Given the description of an element on the screen output the (x, y) to click on. 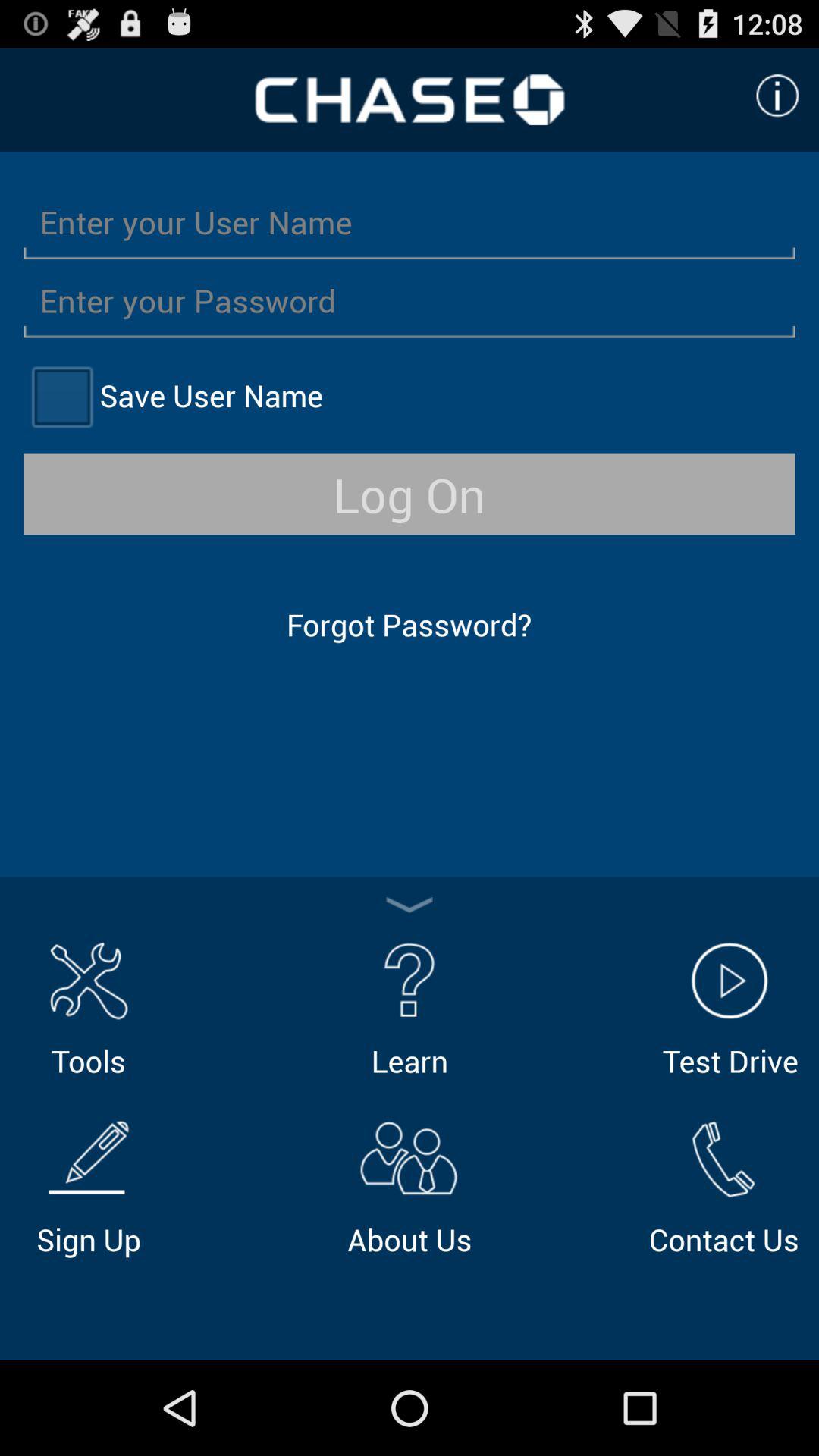
press item next to tools item (409, 1006)
